Given the description of an element on the screen output the (x, y) to click on. 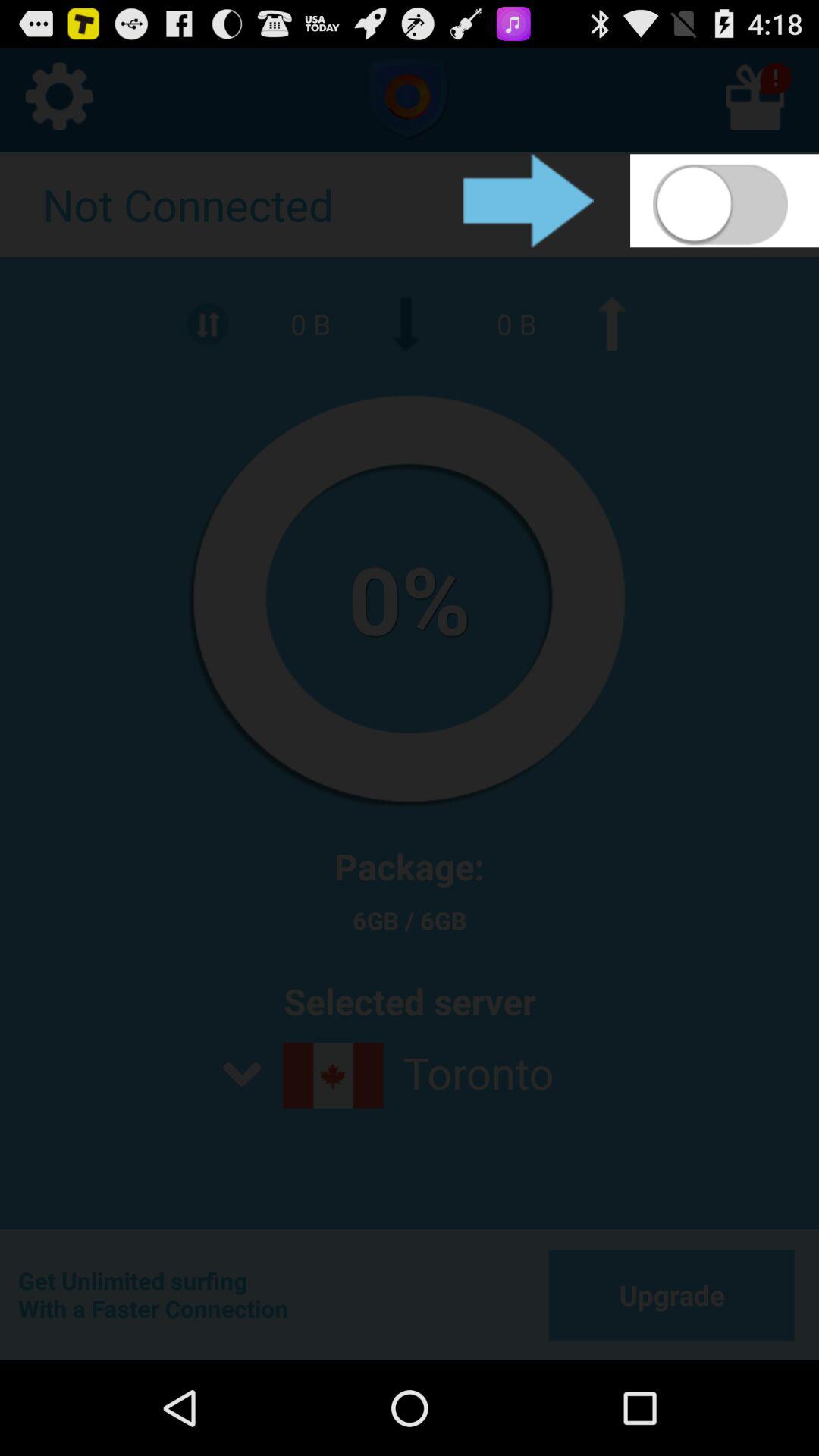
toggle connection (724, 200)
